Given the description of an element on the screen output the (x, y) to click on. 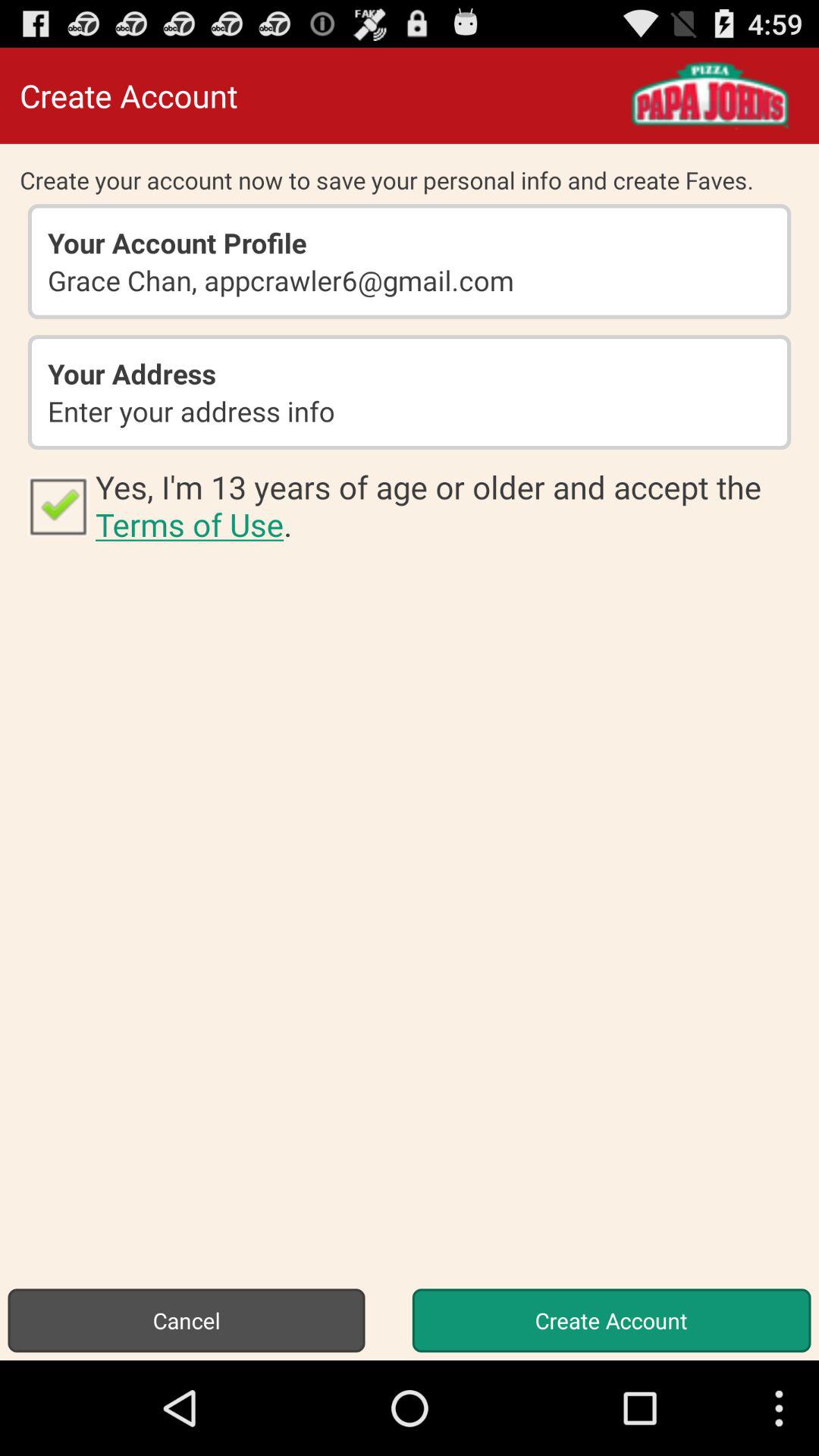
launch the item below the enter your address app (447, 505)
